Given the description of an element on the screen output the (x, y) to click on. 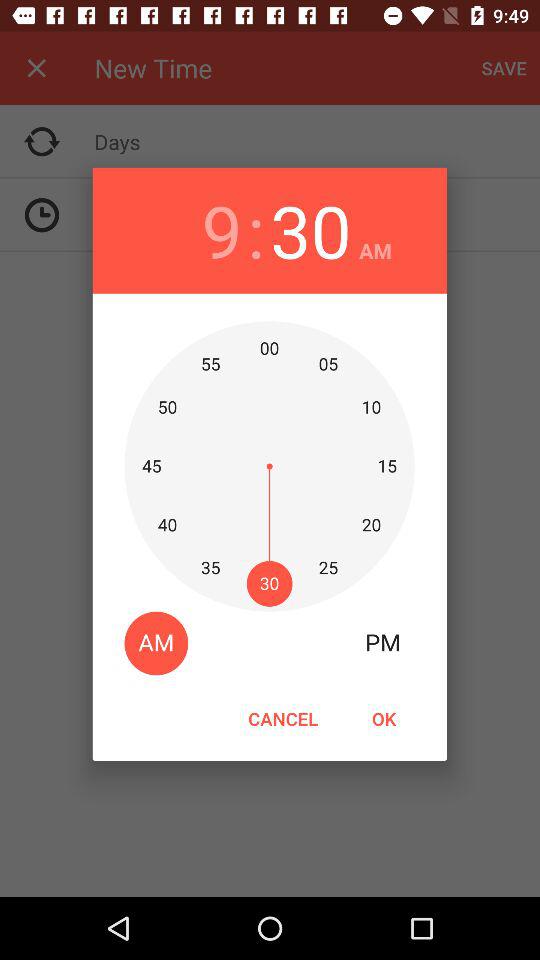
turn on ok icon (383, 718)
